Given the description of an element on the screen output the (x, y) to click on. 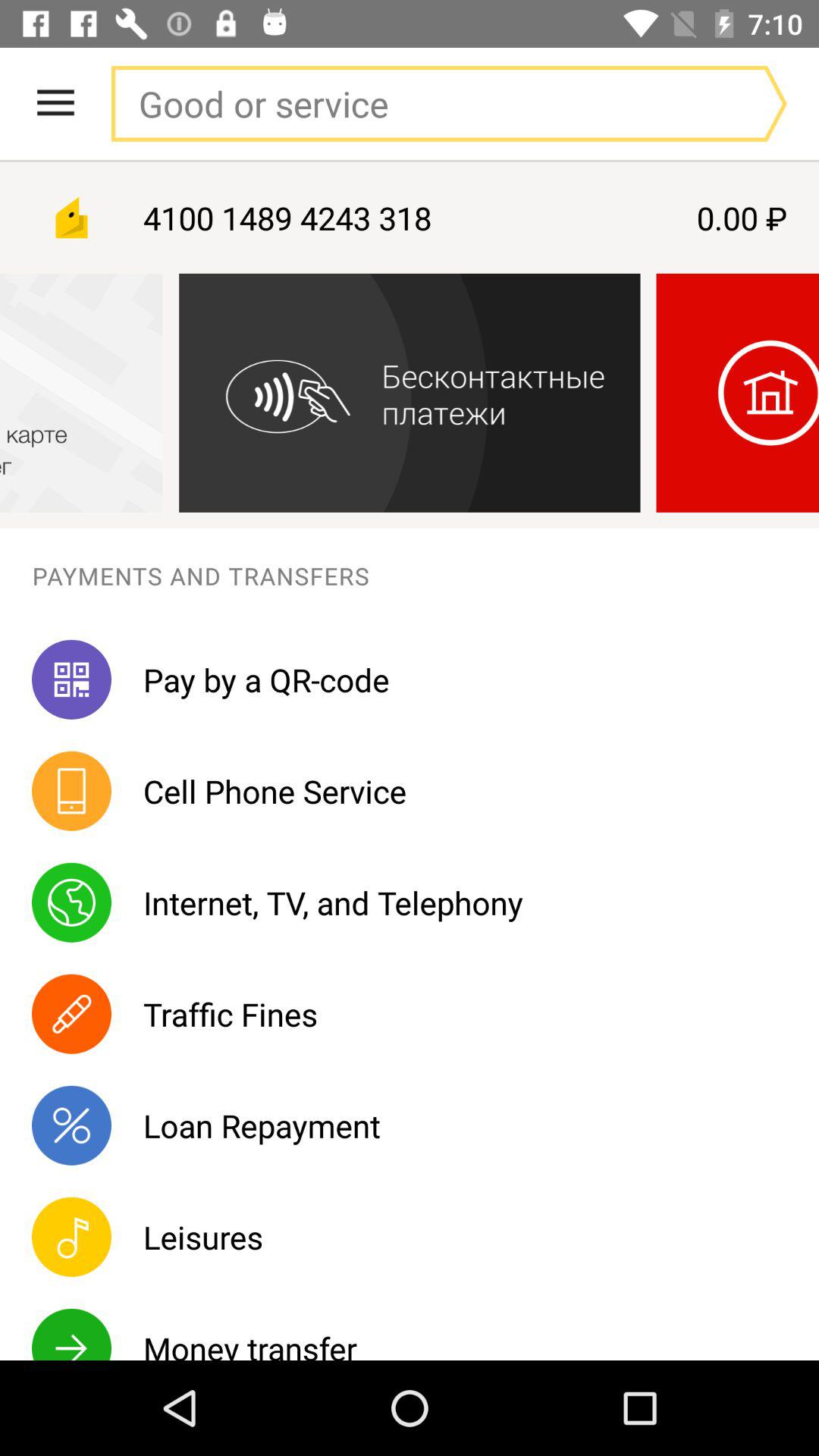
search (417, 103)
